Given the description of an element on the screen output the (x, y) to click on. 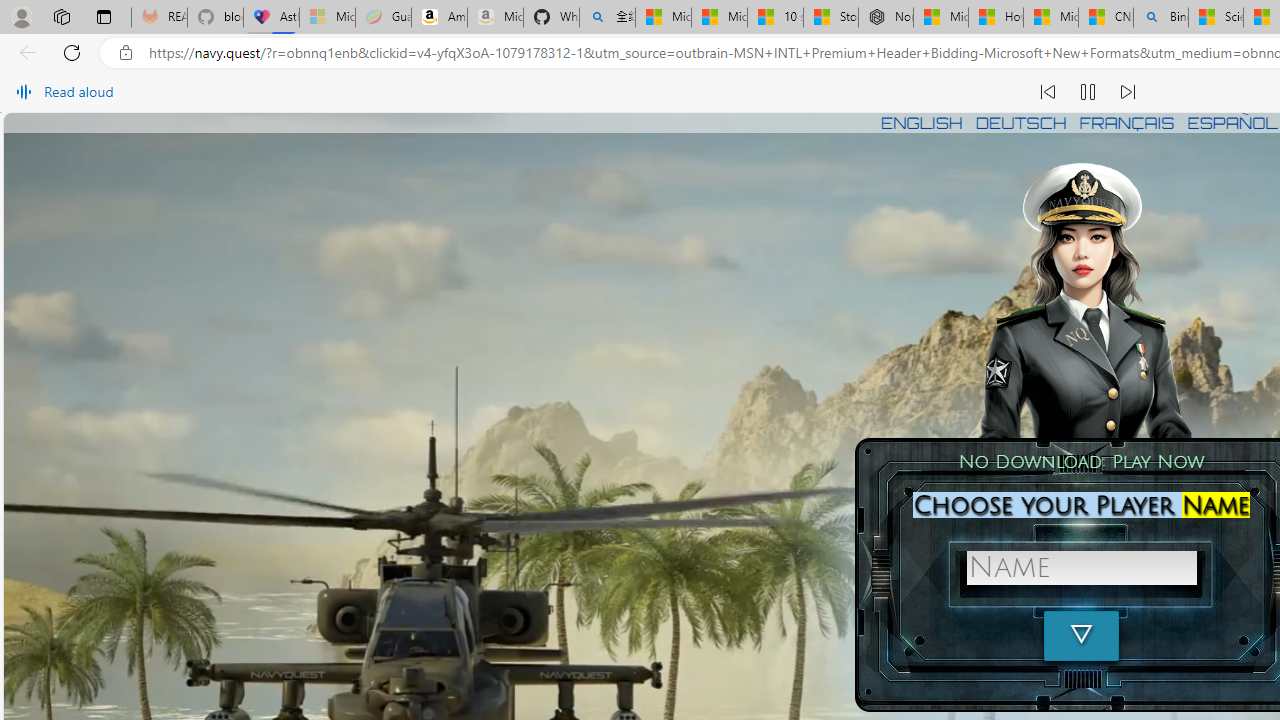
Science - MSN (1215, 17)
Bing (1160, 17)
Refresh (72, 52)
How I Got Rid of Microsoft Edge's Unnecessary Features (995, 17)
Read next paragraph (1128, 92)
Microsoft-Report a Concern to Bing - Sleeping (326, 17)
View site information (125, 53)
Workspaces (61, 16)
Personal Profile (21, 16)
Stocks - MSN (830, 17)
